Given the description of an element on the screen output the (x, y) to click on. 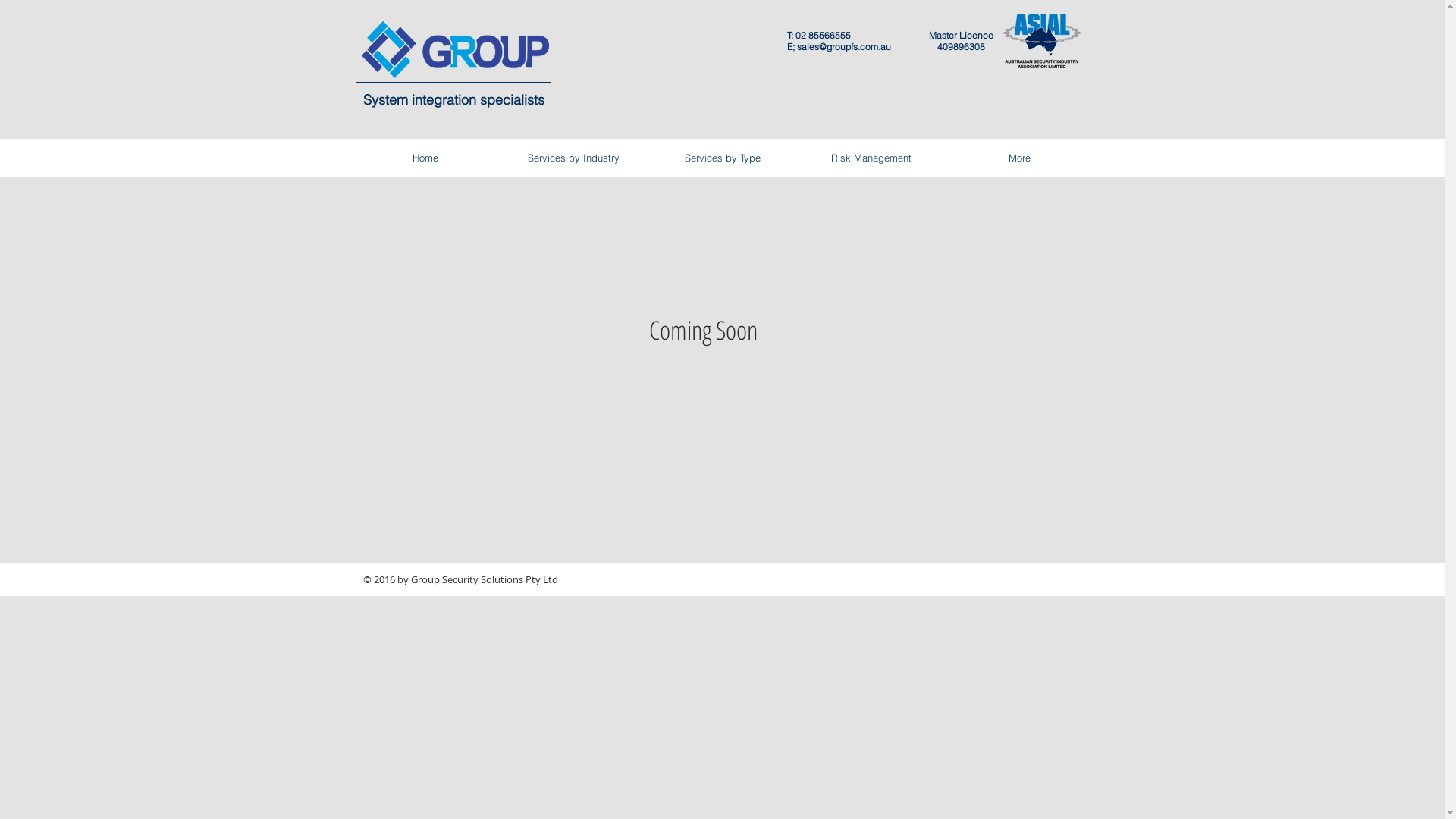
Home Element type: text (424, 157)
Services by Industry Element type: text (572, 157)
Services by Type Element type: text (721, 157)
sales@groupfs.com.au Element type: text (843, 46)
Risk Management Element type: text (870, 157)
Group transparent.png Element type: hover (454, 49)
